Given the description of an element on the screen output the (x, y) to click on. 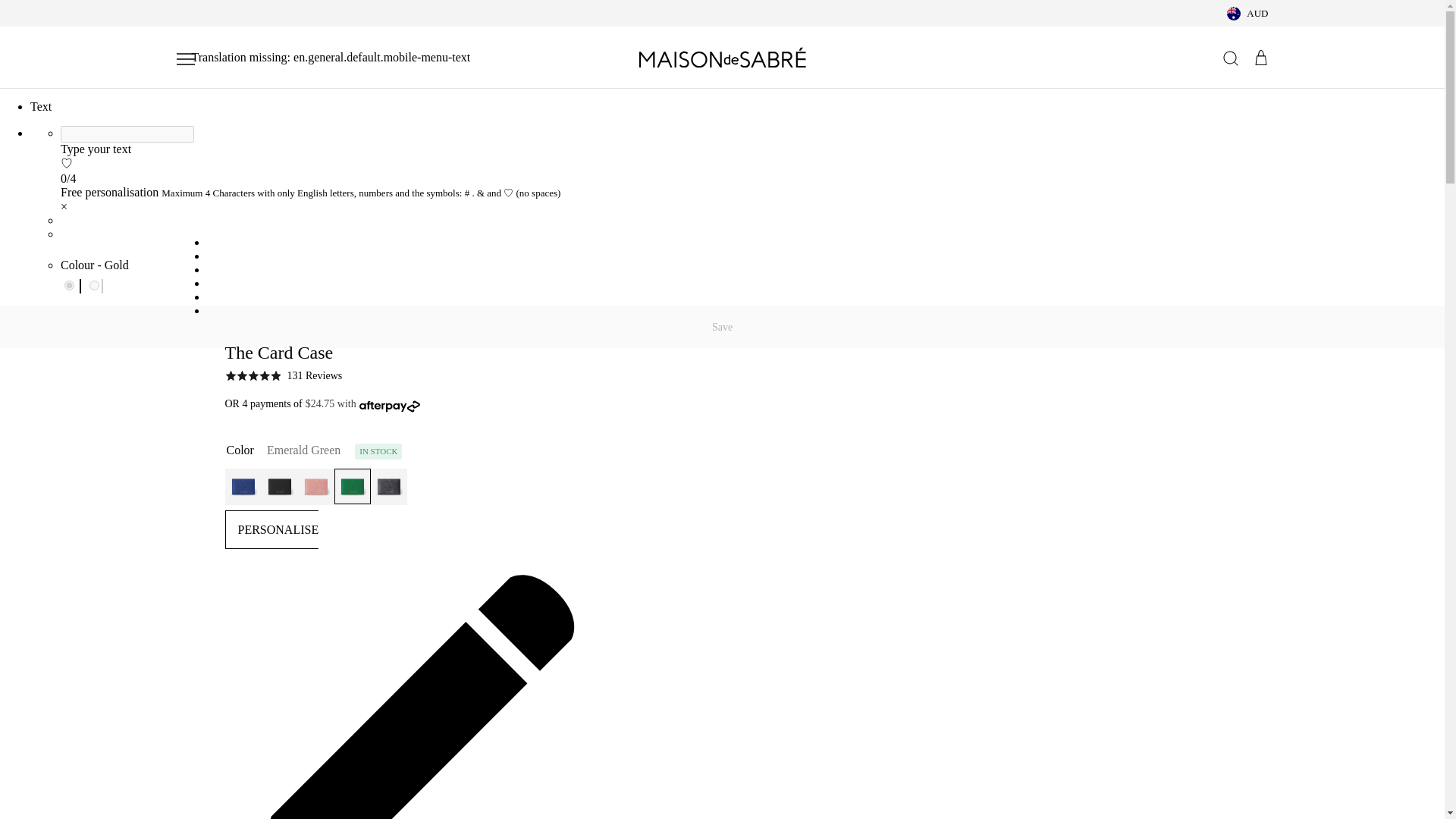
Skip to content (78, 121)
Save (722, 326)
Silver (93, 285)
Open mobile menu (323, 57)
Gold (69, 285)
Text (40, 106)
